Given the description of an element on the screen output the (x, y) to click on. 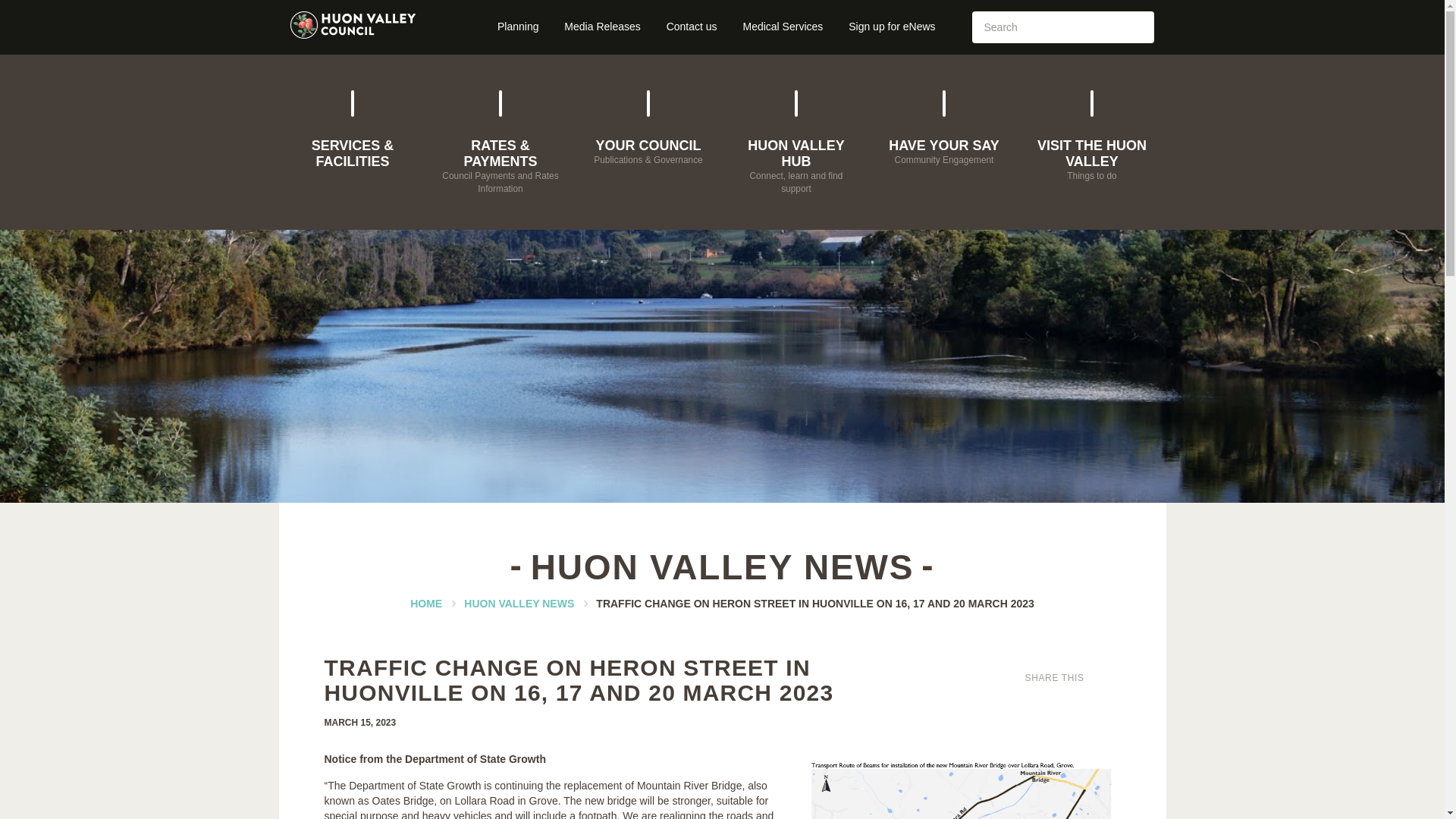
Share on Twitter (1112, 672)
HOME (426, 603)
Search (1138, 27)
Share on Facebook (1094, 672)
Sign up for eNews (891, 27)
Contact us (692, 27)
Planning (518, 27)
Media Releases (1091, 130)
Medical Services (943, 122)
HUON VALLEY NEWS (601, 27)
